Given the description of an element on the screen output the (x, y) to click on. 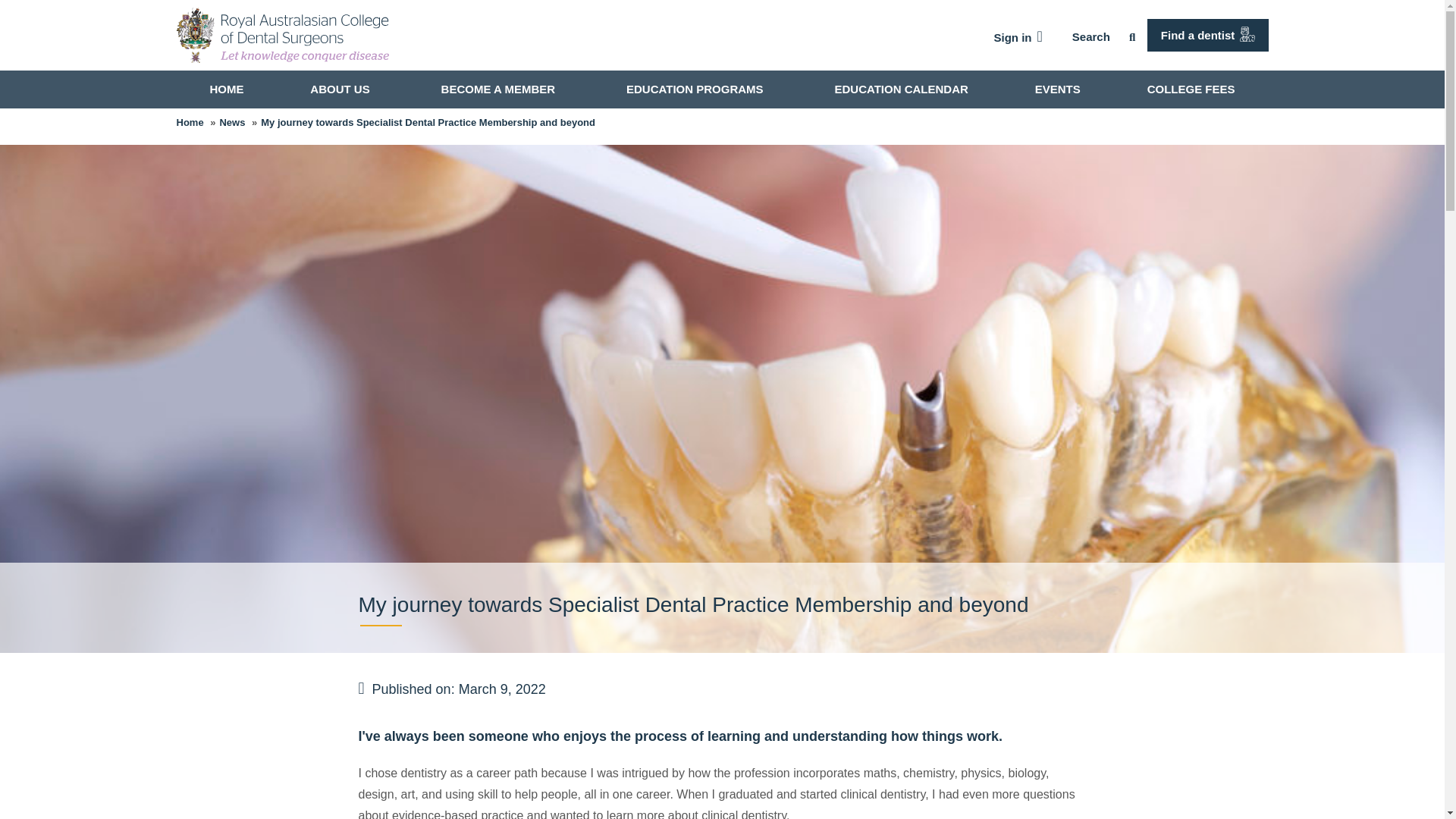
Sign in (1018, 37)
Find a dentist (1207, 34)
Royal Australasian College of Dental Surgeons (282, 35)
HOME (226, 89)
BECOME A MEMBER (500, 89)
ABOUT US (341, 89)
EDUCATION PROGRAMS (697, 89)
